Given the description of an element on the screen output the (x, y) to click on. 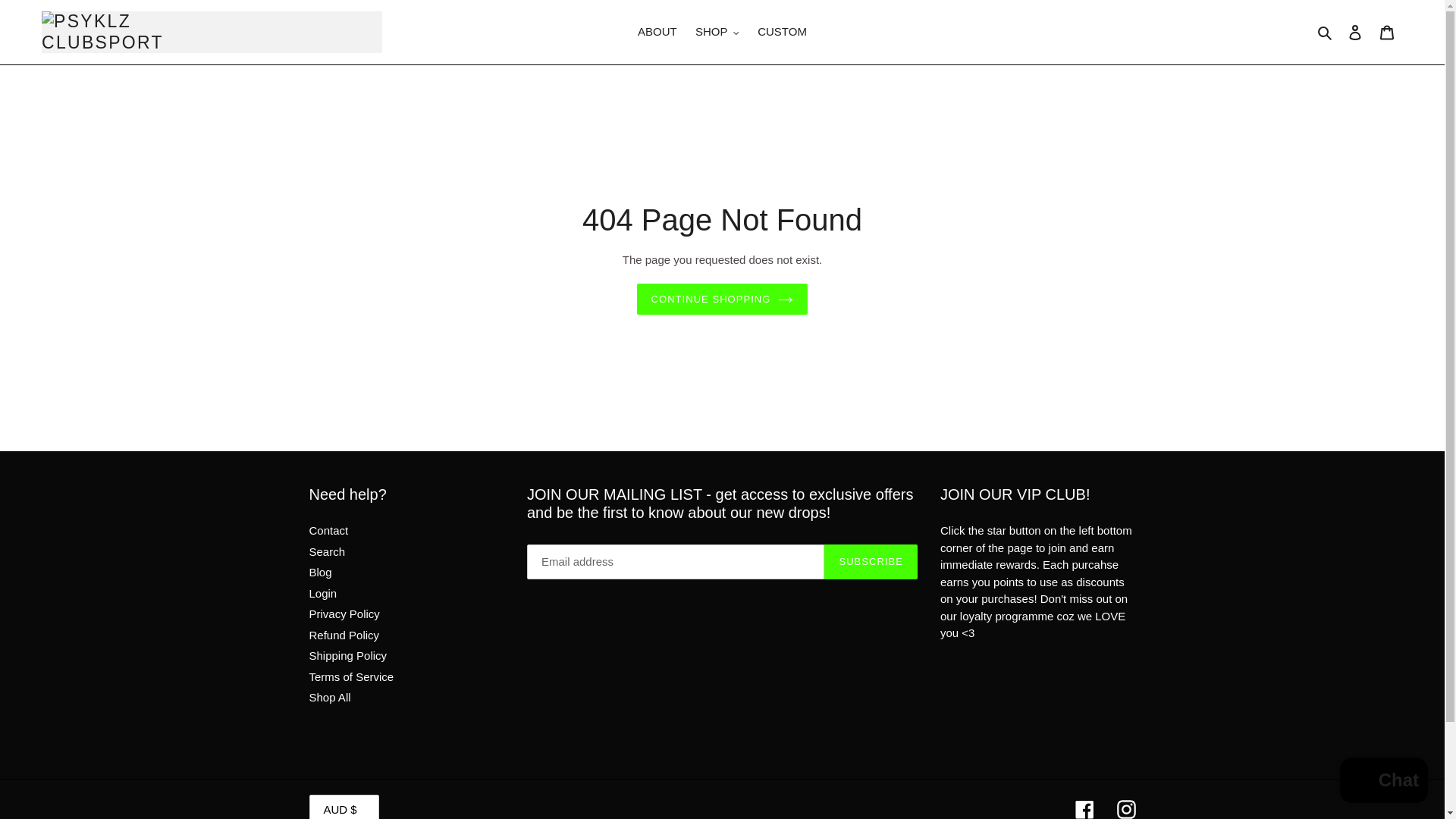
Search (327, 551)
Terms of Service (351, 676)
Privacy Policy (344, 613)
Log in (1355, 31)
CONTINUE SHOPPING (722, 299)
Blog (319, 571)
Cart (1387, 31)
Login (322, 593)
Refund Policy (344, 634)
Shipping Policy (347, 655)
